Given the description of an element on the screen output the (x, y) to click on. 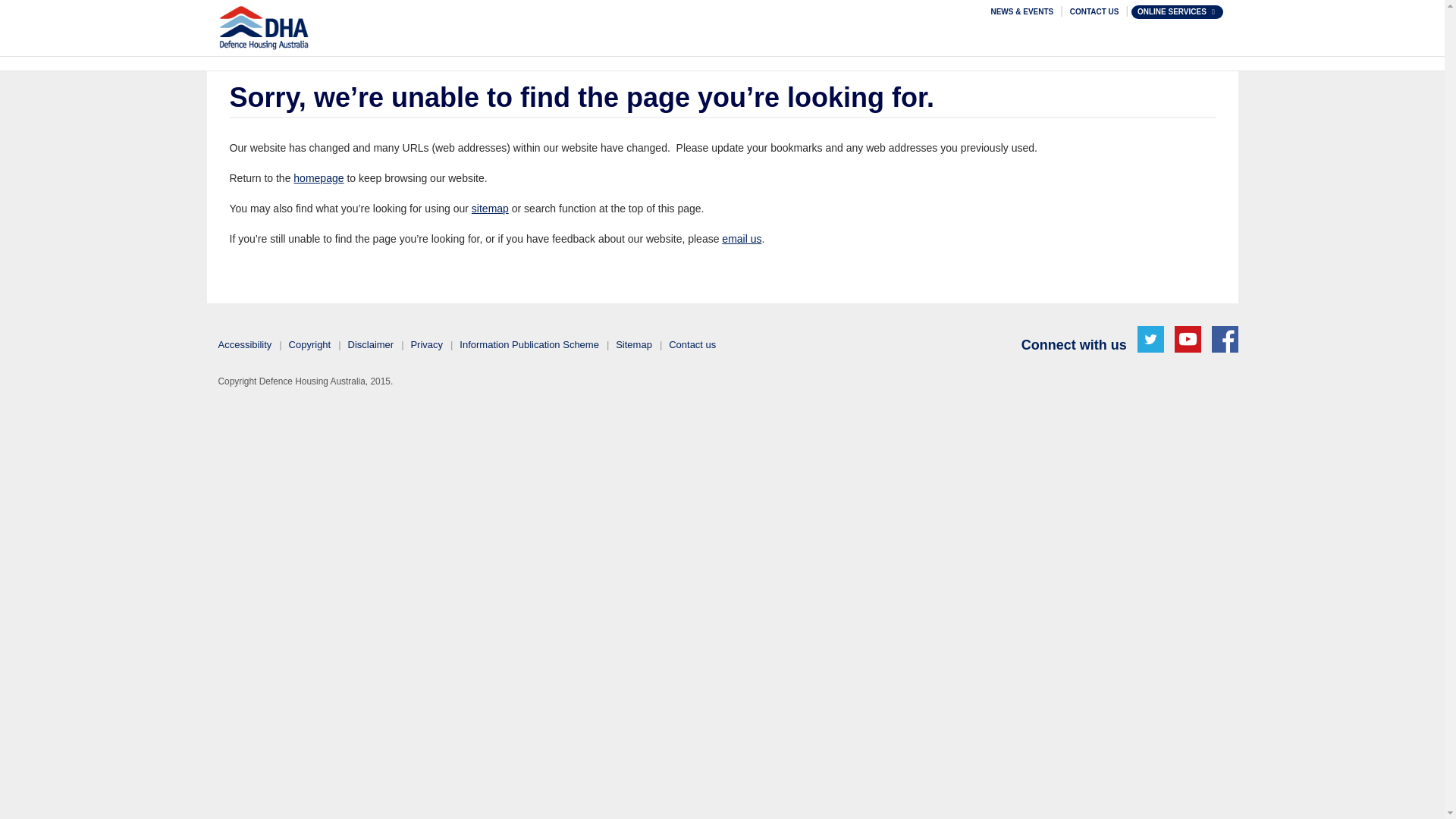
Disclaimer (374, 344)
Copyright (313, 344)
Subscribe to DHA's Youtube channel (1187, 338)
Sitemap (637, 344)
Privacy (429, 344)
ONLINE SERVICES (1177, 11)
sitemap (489, 208)
homepage (318, 177)
Accessibility (248, 344)
Information Publication Scheme (533, 344)
Like DHA on Facebook (1225, 338)
CONTACT US (1093, 11)
email us (741, 237)
Follow DHA on Twitter (1150, 338)
Skip To Main Content (731, 8)
